Given the description of an element on the screen output the (x, y) to click on. 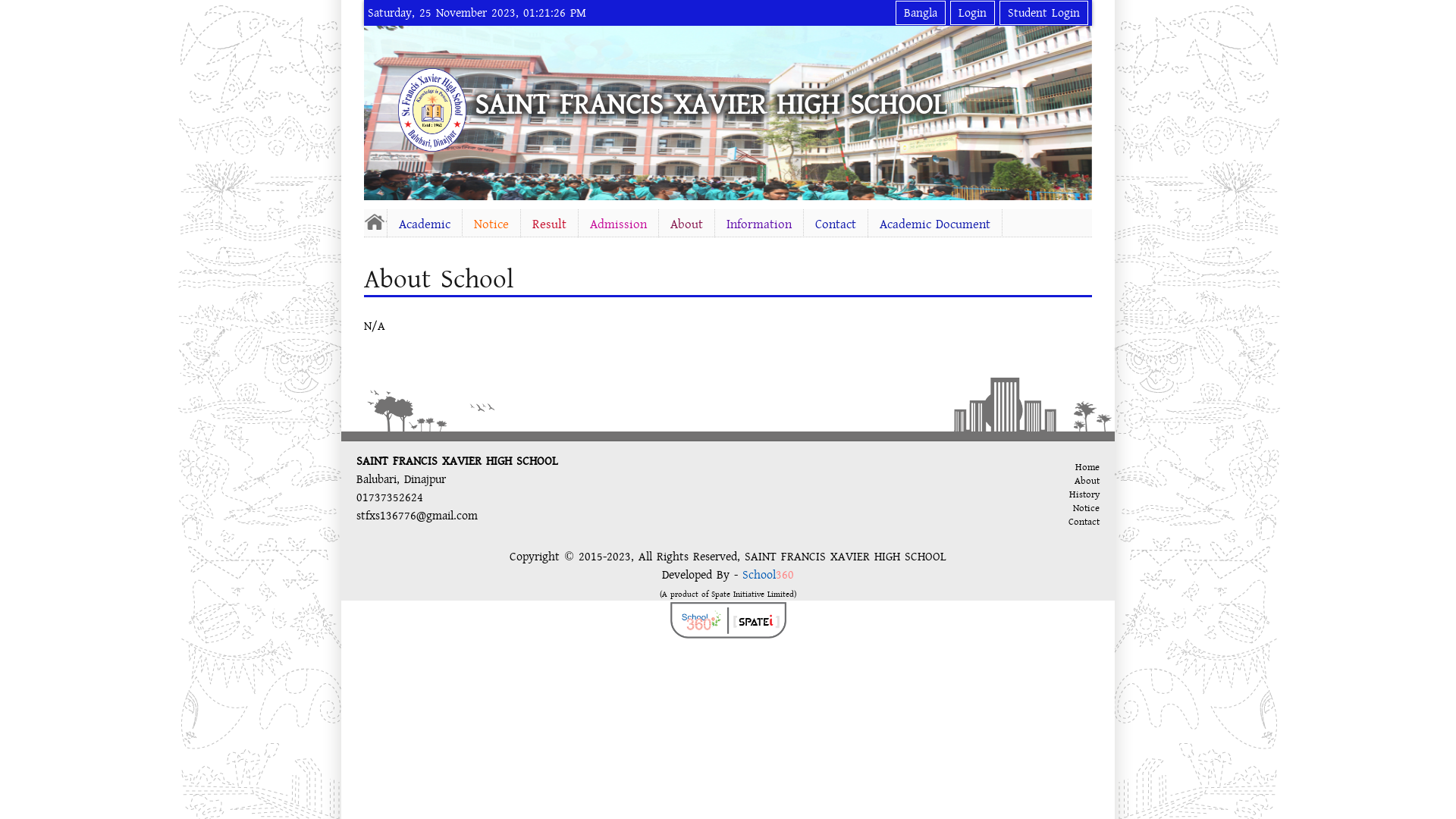
(A product of Spate Initiative Limited) Element type: text (727, 592)
Contact Element type: text (1083, 521)
About Element type: text (1086, 480)
Information Element type: text (759, 224)
Home Element type: text (1087, 466)
Admission Element type: text (618, 224)
SAINT FRANCIS XAVIER HIGH SCHOOL Element type: text (710, 104)
Academic Element type: text (424, 224)
Bangla Element type: text (920, 12)
Contact Element type: text (835, 224)
Saturday, 25 November 2023, 01:21:26 PM Element type: text (476, 12)
Academic Document Element type: text (934, 224)
Next Element type: text (1077, 110)
Student Login Element type: text (1043, 12)
Login Element type: text (972, 12)
Notice Element type: text (1086, 507)
Notice Element type: text (491, 224)
History Element type: text (1084, 494)
About Element type: text (686, 224)
Result Element type: text (548, 224)

                            
                         Element type: hover (436, 109)
Previous Element type: text (378, 110)

                     Element type: hover (375, 221)
School360 Element type: text (767, 574)
